Given the description of an element on the screen output the (x, y) to click on. 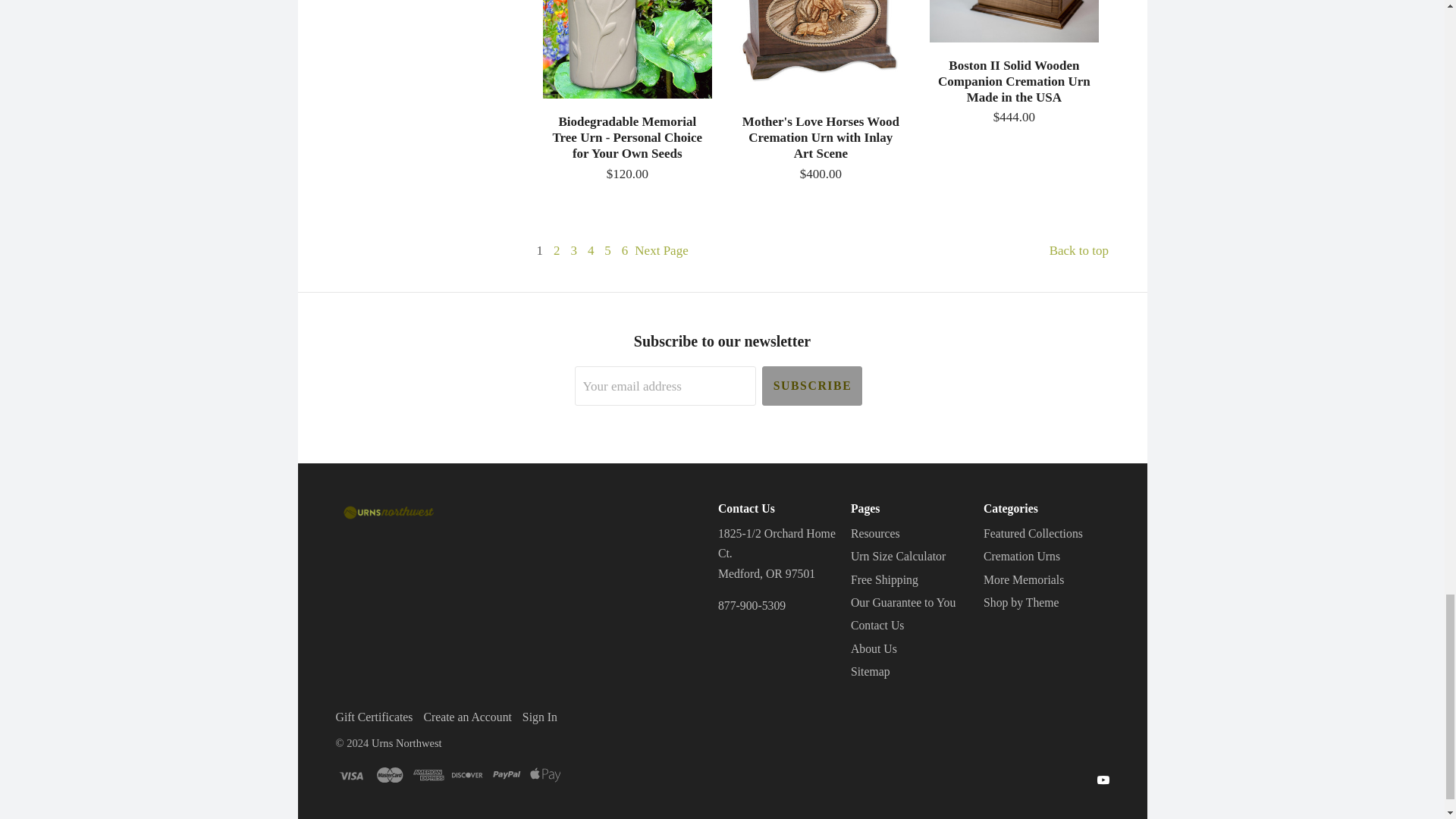
Mastercard (389, 774)
Discover (467, 774)
Paypal (507, 774)
American Express (428, 774)
Visa (349, 774)
Subscribe (811, 385)
Apple Pay (544, 774)
